Given the description of an element on the screen output the (x, y) to click on. 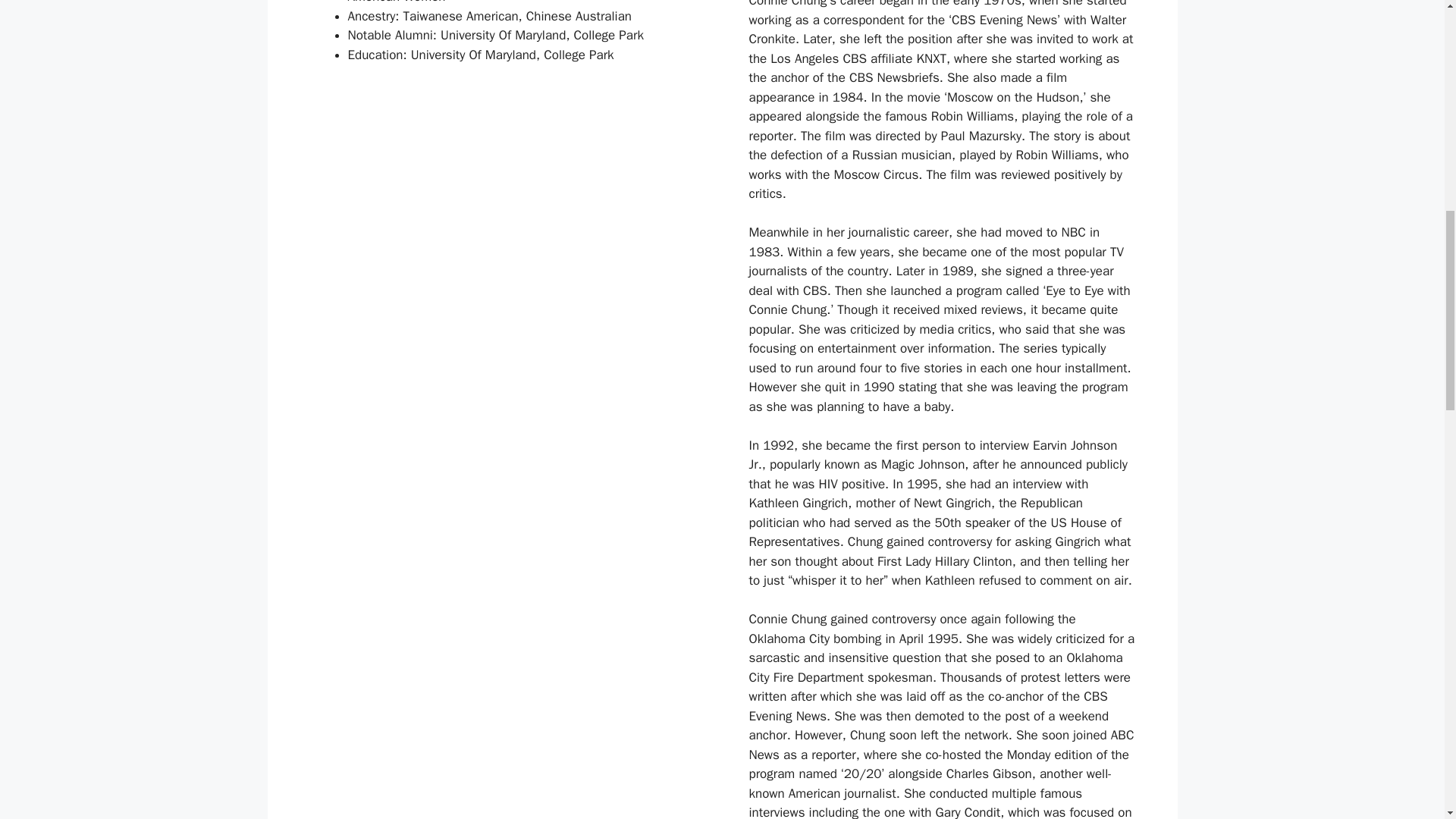
YouTube video player (501, 236)
